Given the description of an element on the screen output the (x, y) to click on. 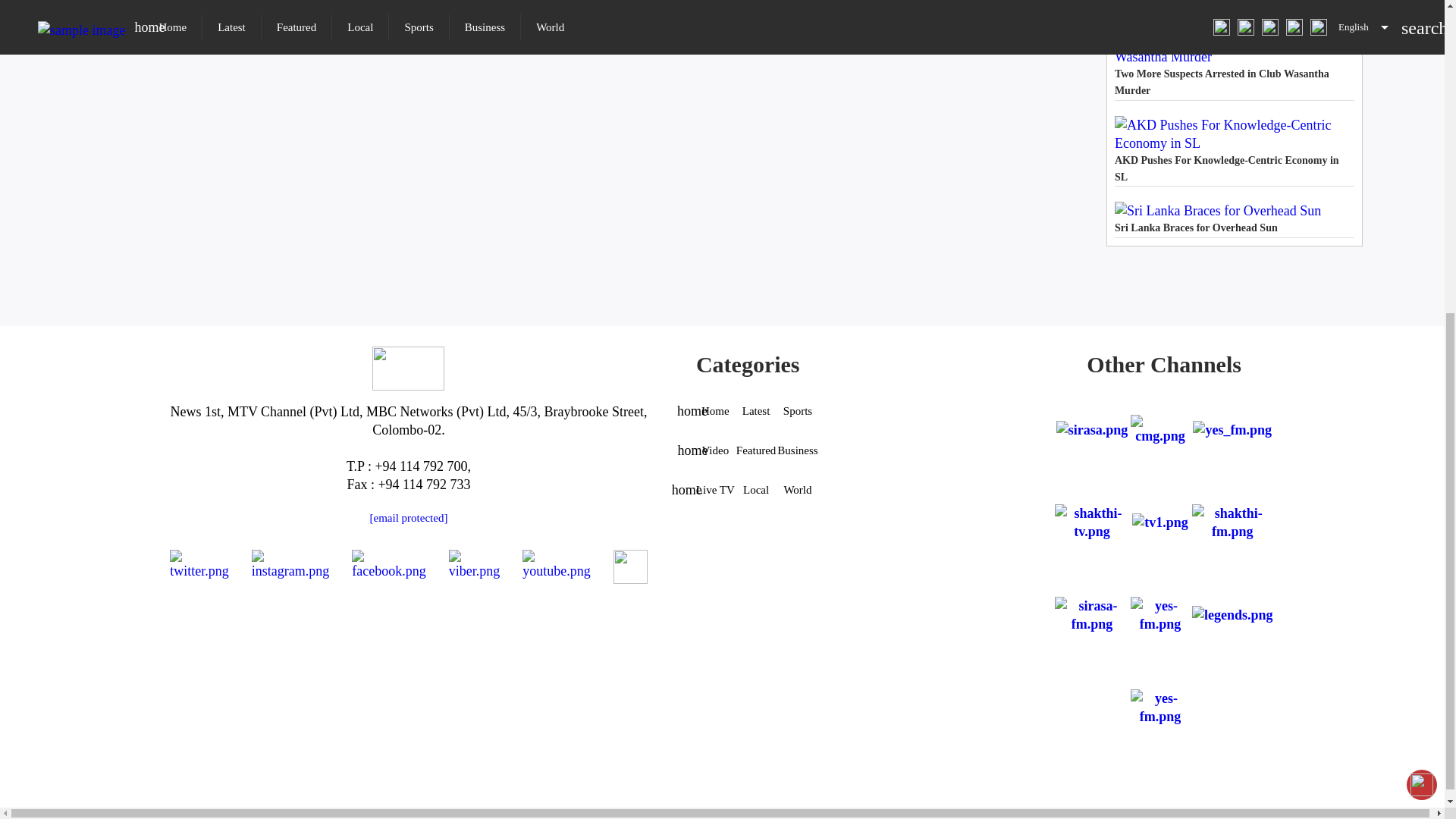
Two More Suspects Arrested in Club Wasantha Murder (1234, 64)
Sri Lanka Braces for Overhead Sun (1234, 218)
AKD Pushes For Knowledge-Centric Economy in SL (1234, 151)
Moragoda Meets National Security Advisor Of India (1234, 6)
